Given the description of an element on the screen output the (x, y) to click on. 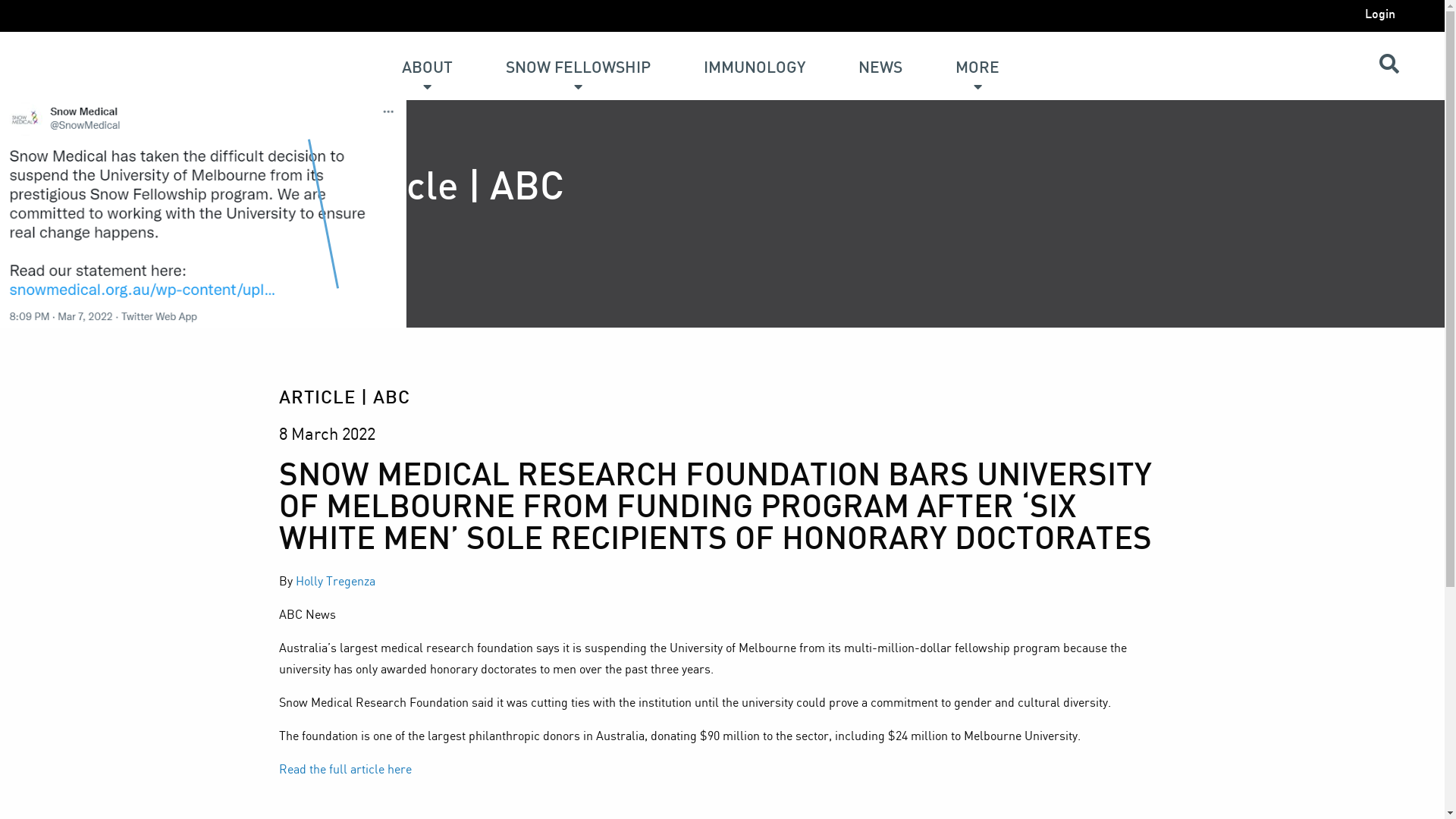
Holly Tregenza Element type: text (335, 580)
SNOW FELLOWSHIP Element type: text (577, 55)
MORE Element type: text (977, 55)
IMMUNOLOGY Element type: text (754, 55)
NEWS Element type: text (880, 55)
Login Element type: text (1378, 14)
ABOUT Element type: text (426, 55)
Read the full article here Element type: text (345, 768)
